Given the description of an element on the screen output the (x, y) to click on. 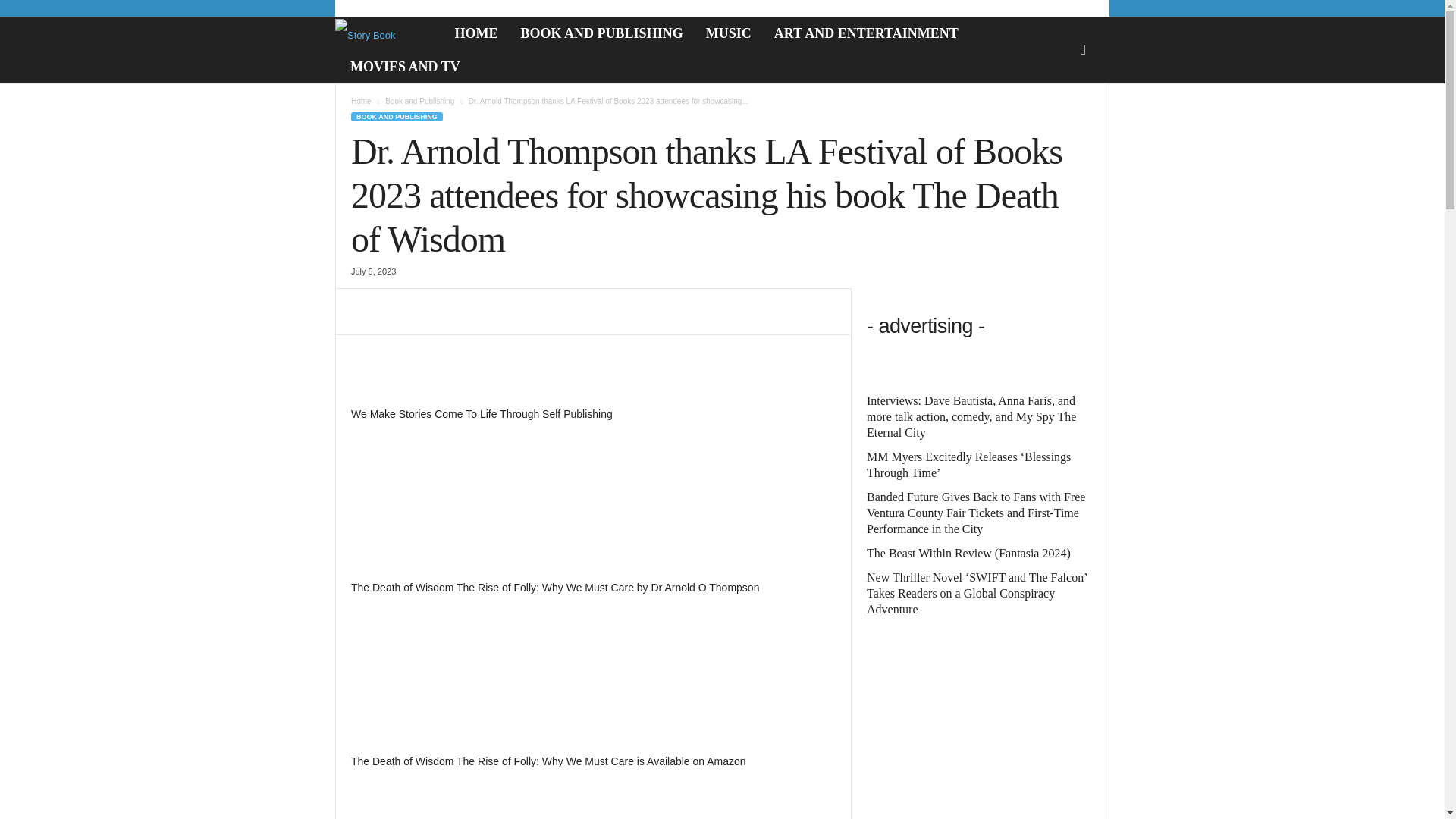
Home (360, 101)
BOOK AND PUBLISHING (396, 116)
View all posts in Book and Publishing (419, 101)
HOME (476, 32)
Book and Publishing (419, 101)
Story Book Strings (389, 33)
MUSIC (728, 32)
BOOK AND PUBLISHING (601, 32)
ART AND ENTERTAINMENT (865, 32)
Story Book Strings (381, 32)
MOVIES AND TV (405, 66)
